Given the description of an element on the screen output the (x, y) to click on. 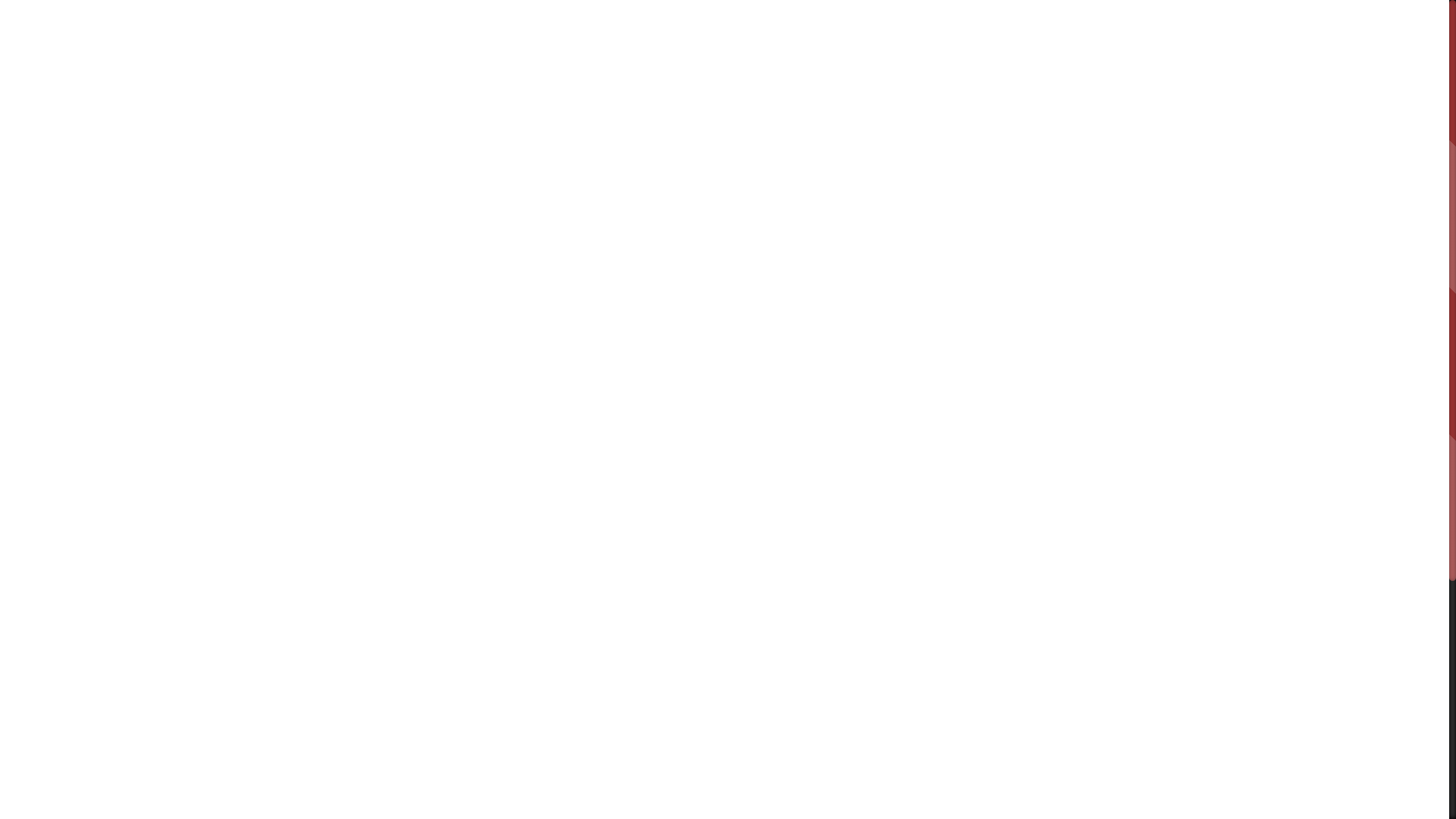
RESERVATIONS Element type: text (1266, 42)
Bistro Ristoro Element type: hover (72, 18)
Top 5 pizza places in Ottawa Element type: hover (724, 491)
1.343.984.6080 Element type: text (791, 656)
INFO@BISTRORISTORO.CA Element type: text (683, 656)
REVIEWS Element type: text (980, 42)
OUR OFFER Element type: text (872, 42)
GALLERY Element type: text (1076, 42)
PRESS Element type: text (1160, 42)
BUY ONE, GET ONE 1/2 PRICE Element type: text (724, 547)
HOME Element type: text (772, 42)
CONTACT Element type: text (1386, 42)
